Given the description of an element on the screen output the (x, y) to click on. 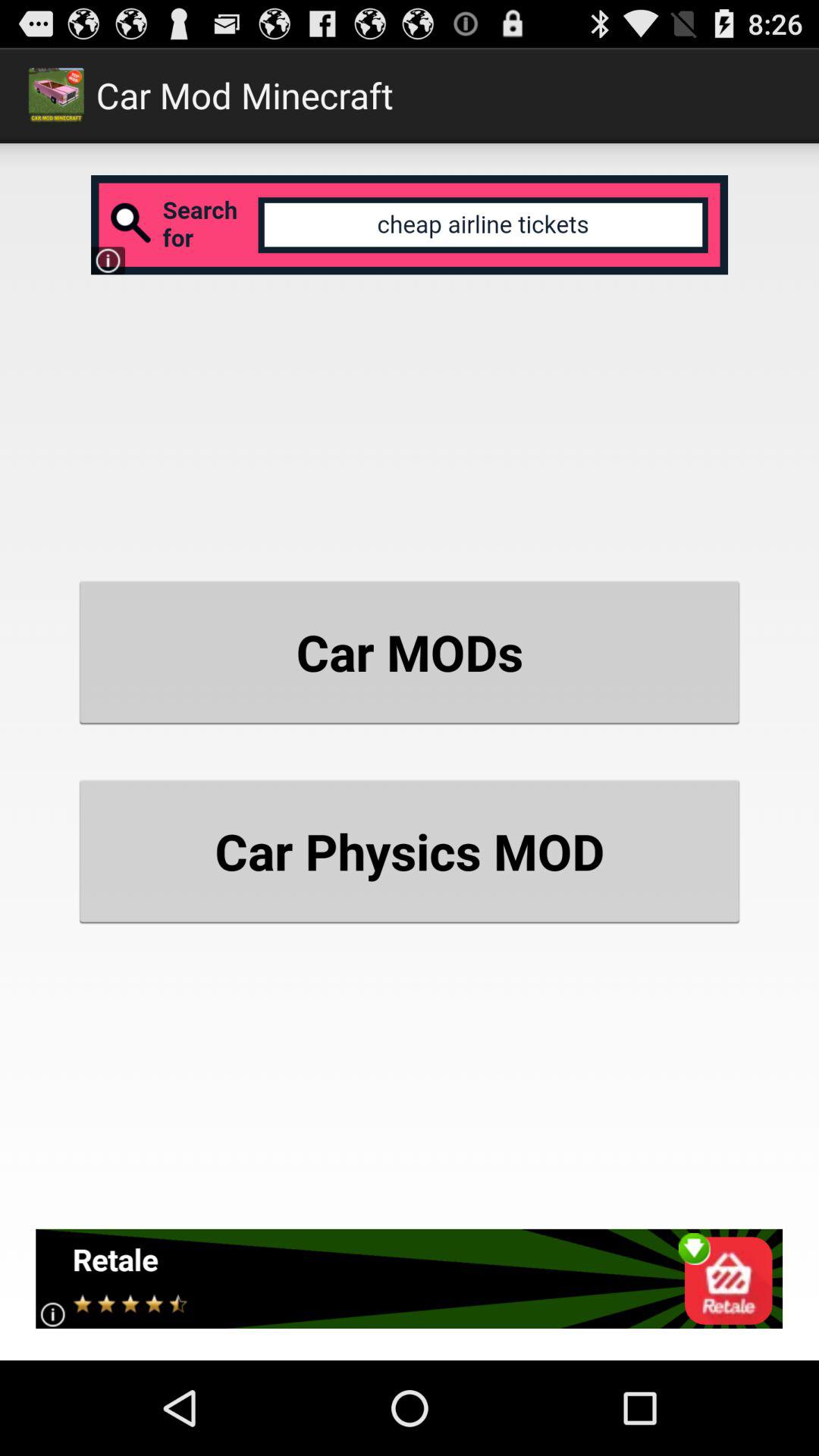
open search bar (409, 224)
